Given the description of an element on the screen output the (x, y) to click on. 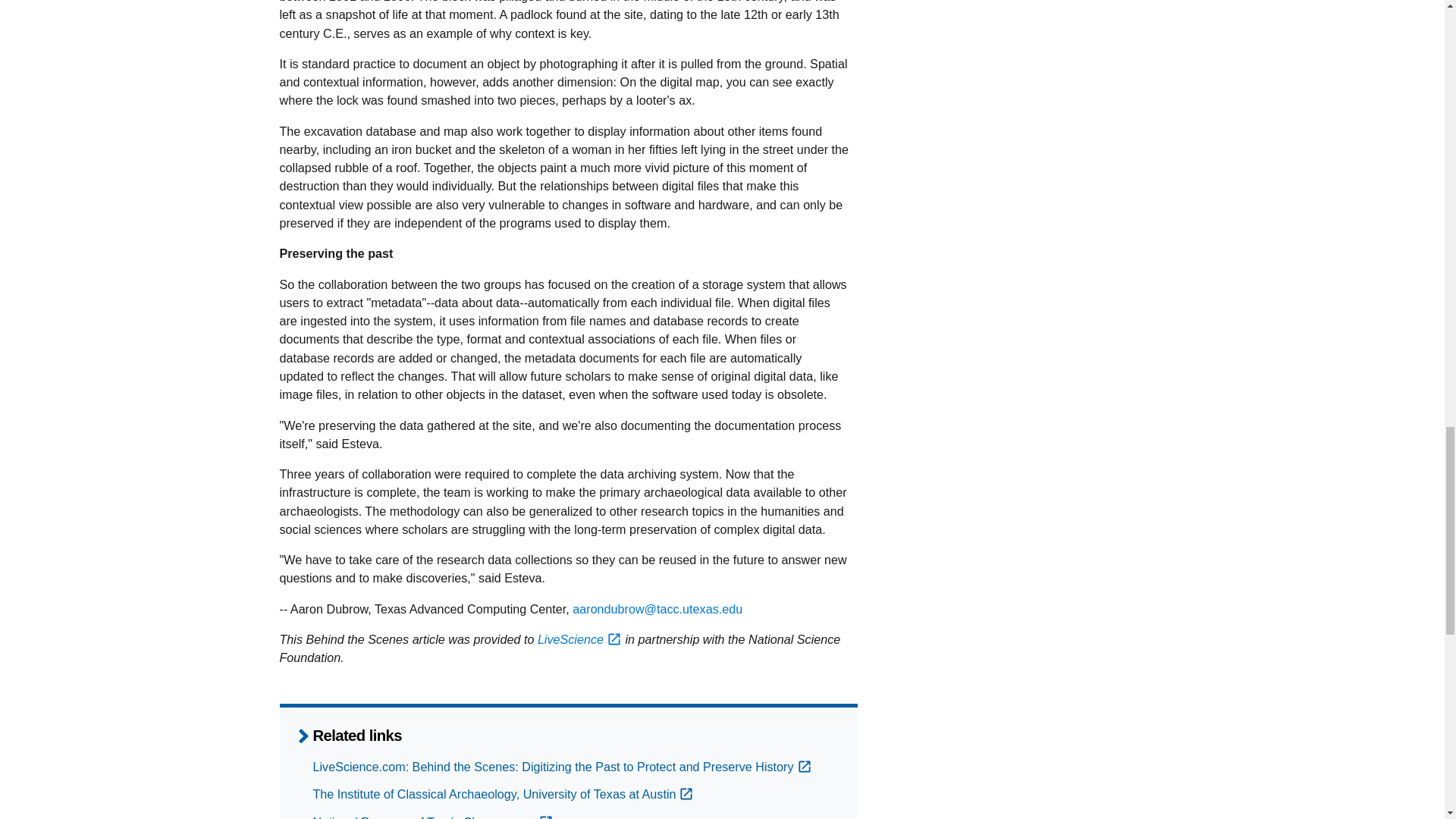
LiveScience (579, 639)
National Preserve of Tauric Chersonesos (433, 816)
